Given the description of an element on the screen output the (x, y) to click on. 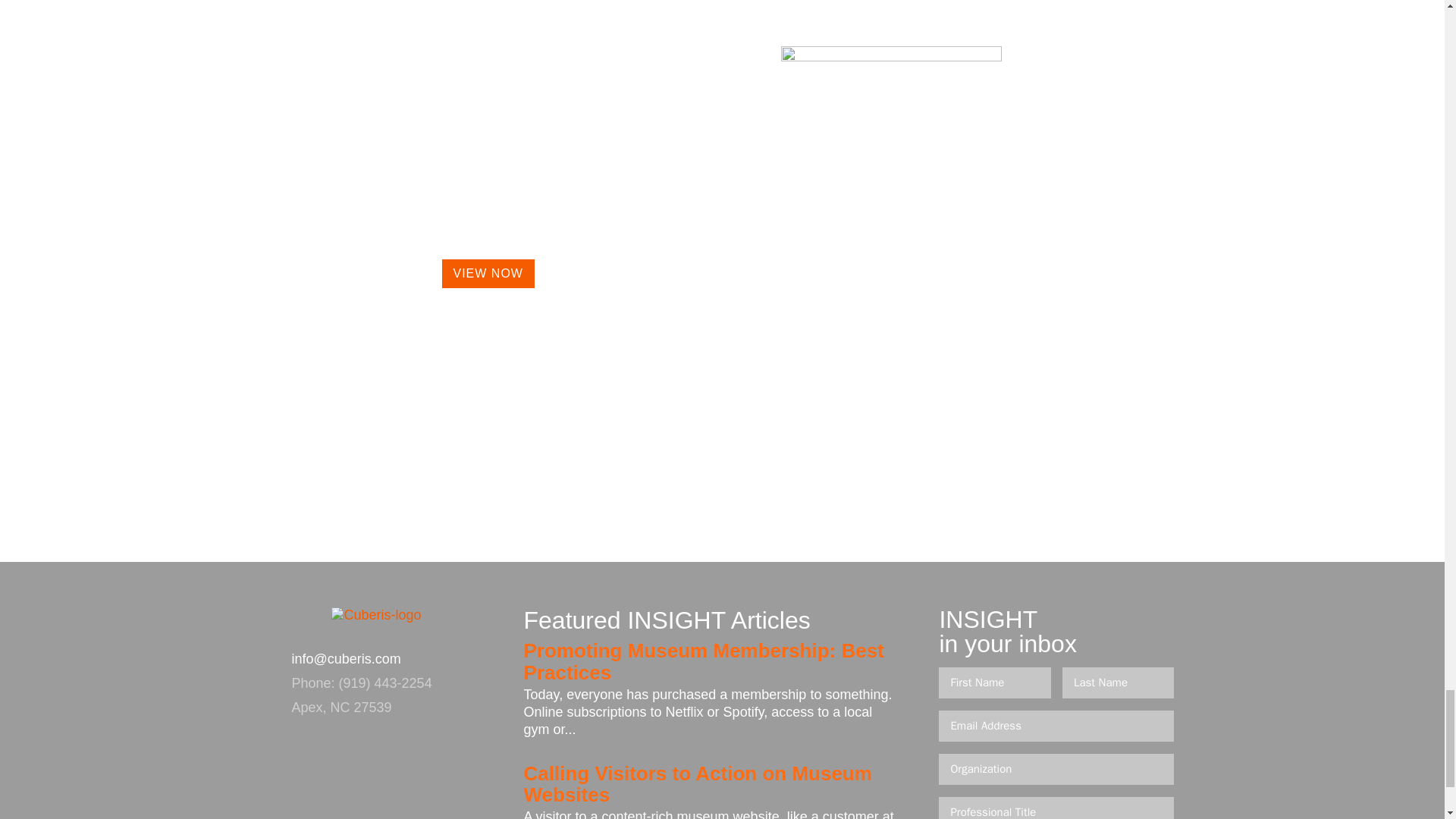
Cuberis-logo (375, 627)
